Given the description of an element on the screen output the (x, y) to click on. 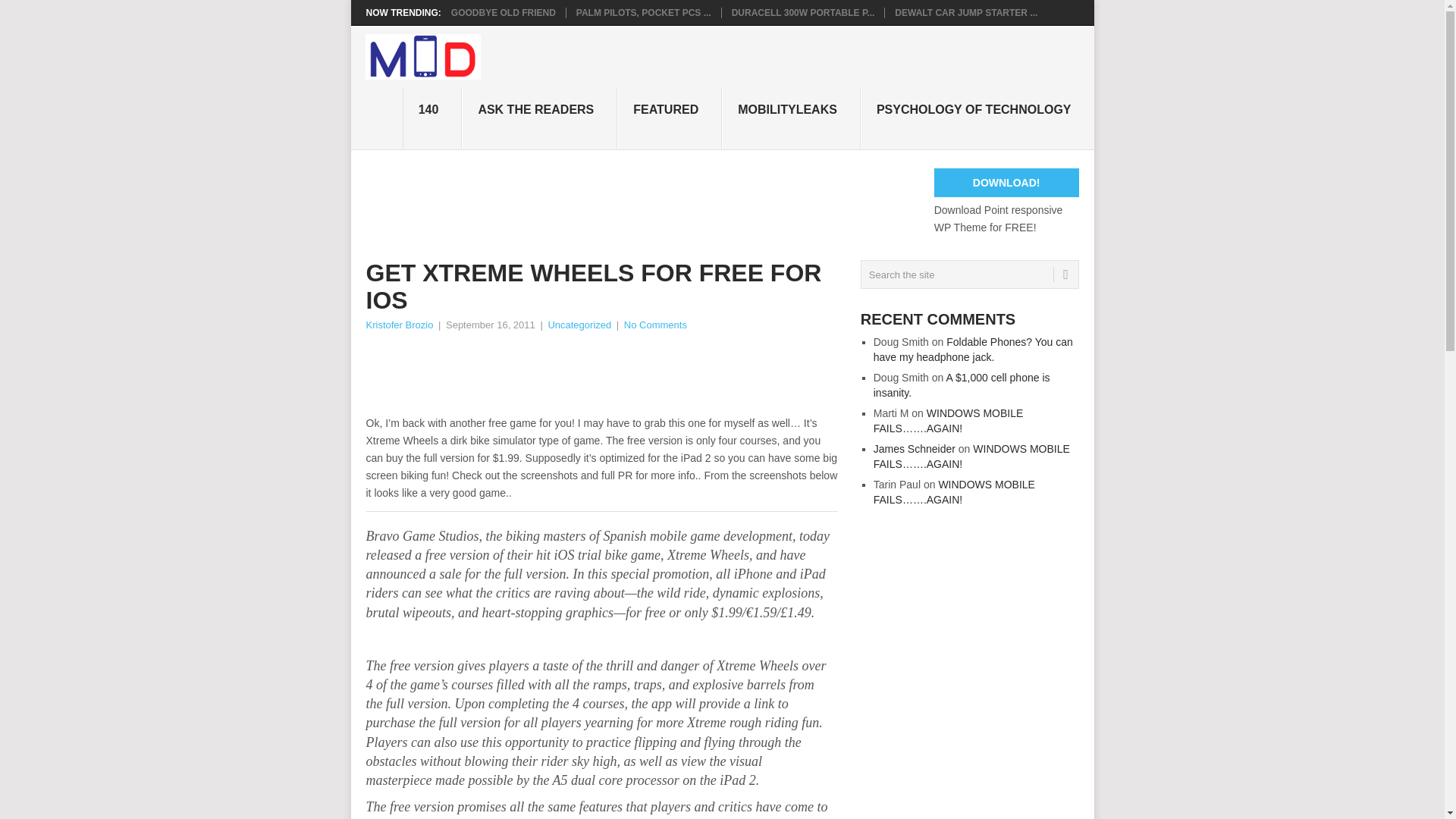
FEATURED (669, 118)
Palm Pilots, Pocket PCs and Boogie Boards (643, 12)
DURACELL 300W PORTABLE P... (803, 12)
DEWALT CAR JUMP STARTER ... (965, 12)
Advertisement (641, 375)
Goodbye Old Friend (503, 12)
PSYCHOLOGY OF TECHNOLOGY (977, 118)
Uncategorized (579, 324)
Kristofer Brozio (398, 324)
Search the site (969, 274)
